Given the description of an element on the screen output the (x, y) to click on. 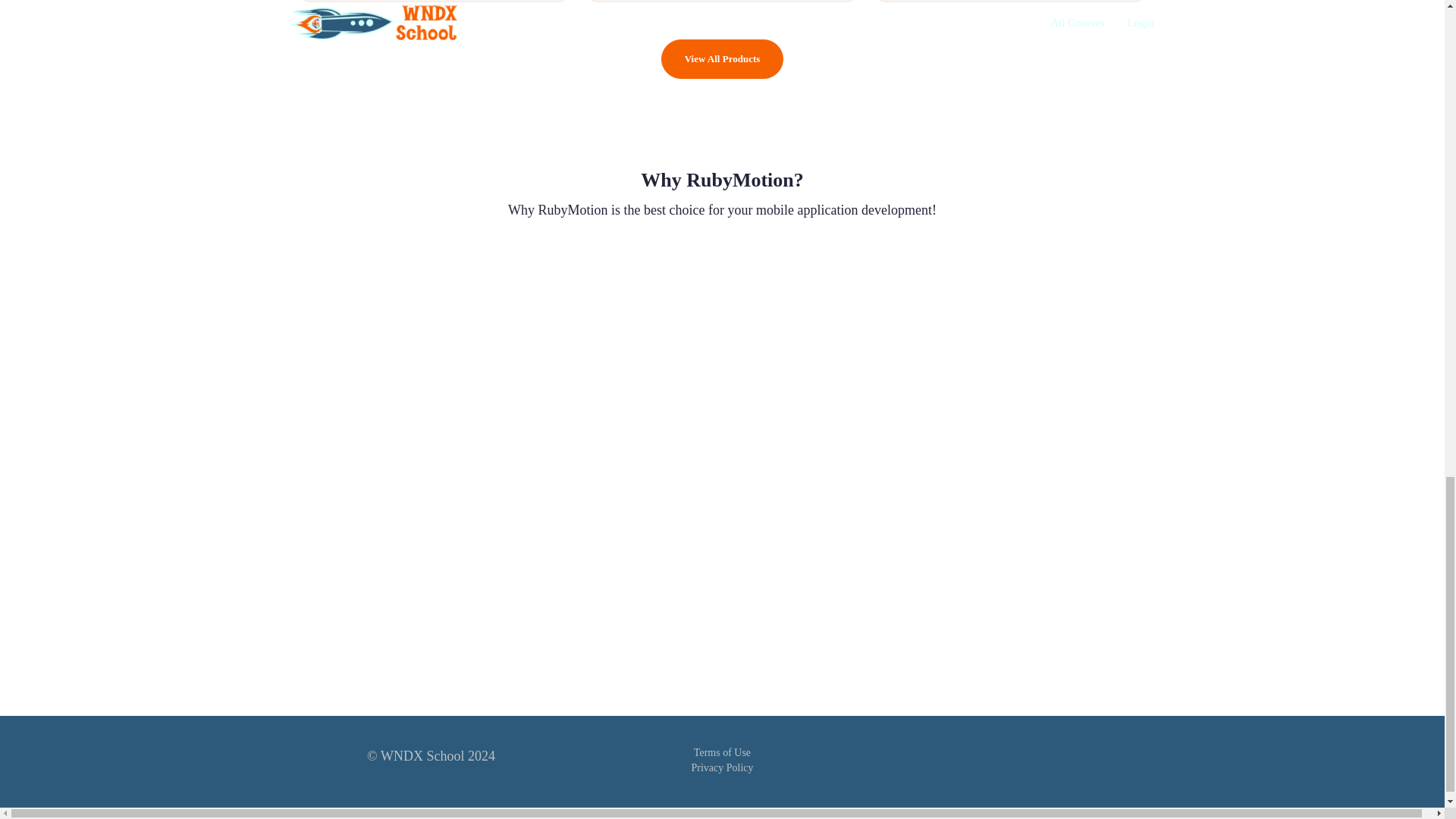
View All Products (722, 59)
Privacy Policy (721, 767)
Terms of Use (722, 752)
